Given the description of an element on the screen output the (x, y) to click on. 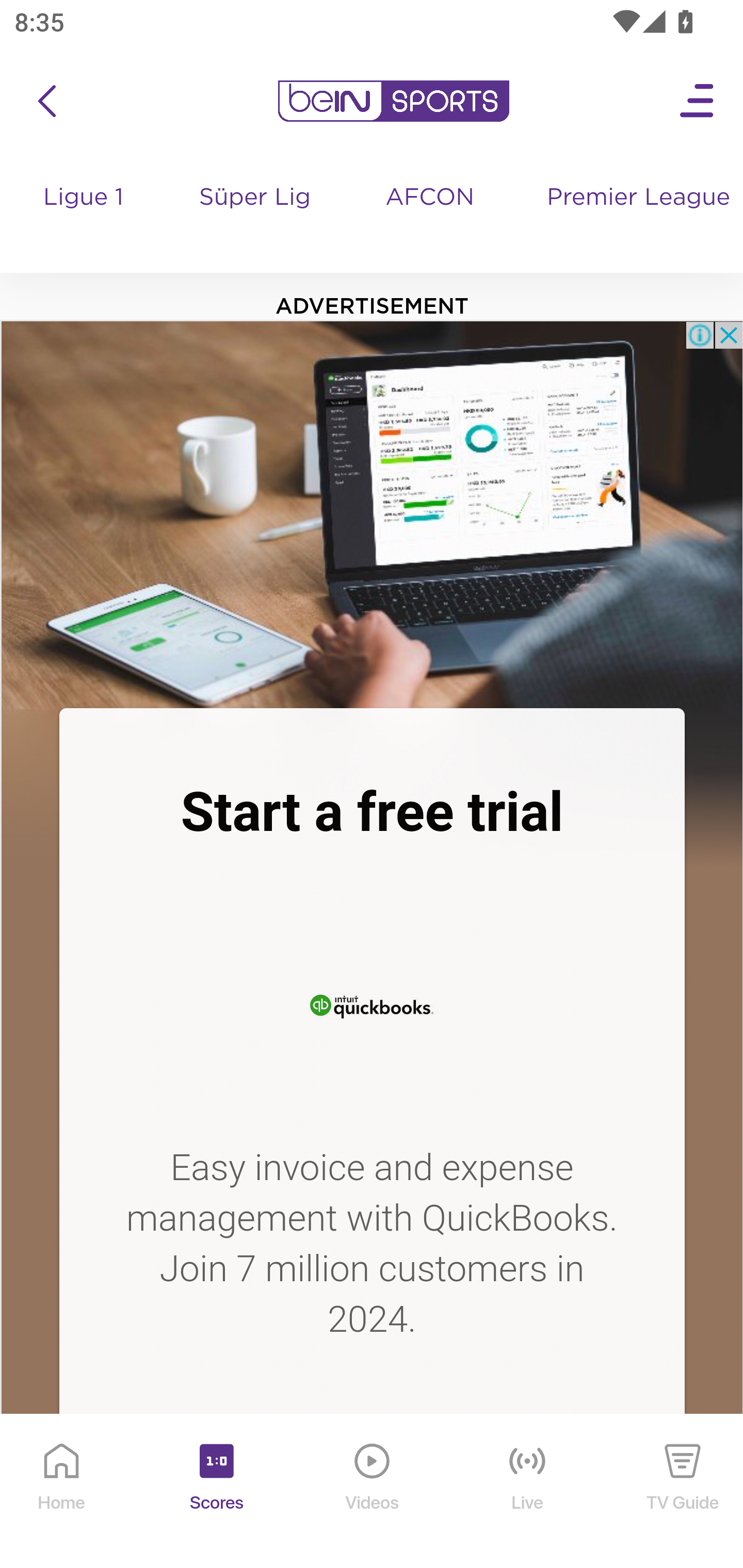
en-us?platform=mobile_android bein logo (392, 101)
icon back (46, 101)
Open Menu Icon (697, 101)
Ligue 1 (84, 216)
Süper Lig (256, 216)
AFCON (429, 198)
Premier League (637, 198)
%3Fcid%3Dppc_ROW_%7Bdscampaign%7D%26gclsrc%3Daw (371, 513)
Start a free trial (371, 812)
%3Fcid%3Dppc_ROW_%7Bdscampaign%7D%26gclsrc%3Daw (371, 1002)
%3Fcid%3Dppc_ROW_%7Bdscampaign%7D%26gclsrc%3Daw (371, 1480)
Home Home Icon Home (61, 1491)
Scores Scores Icon Scores (216, 1491)
TV Guide TV Guide Icon TV Guide (682, 1491)
